Given the description of an element on the screen output the (x, y) to click on. 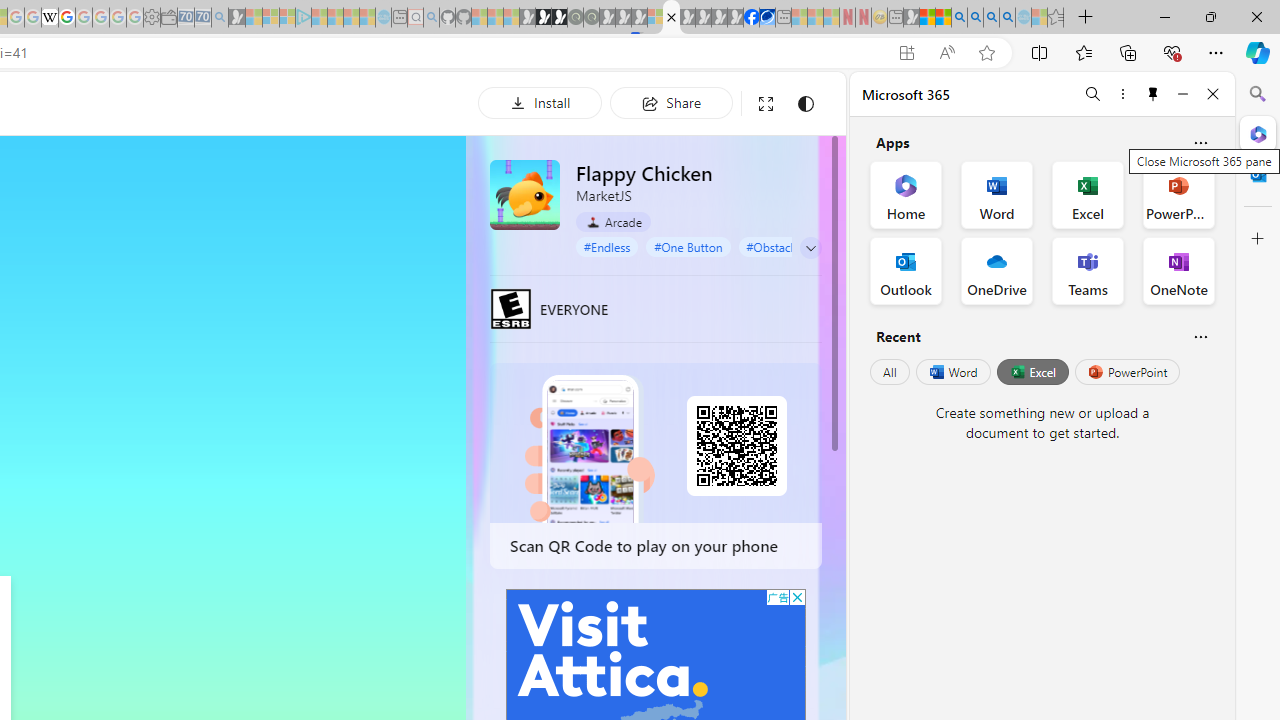
All (890, 372)
#Obstacle Course (792, 246)
Play Zoo Boom in your browser | Games from Microsoft Start (543, 17)
Word (952, 372)
Teams Office App (1087, 270)
Target page - Wikipedia (49, 17)
